Given the description of an element on the screen output the (x, y) to click on. 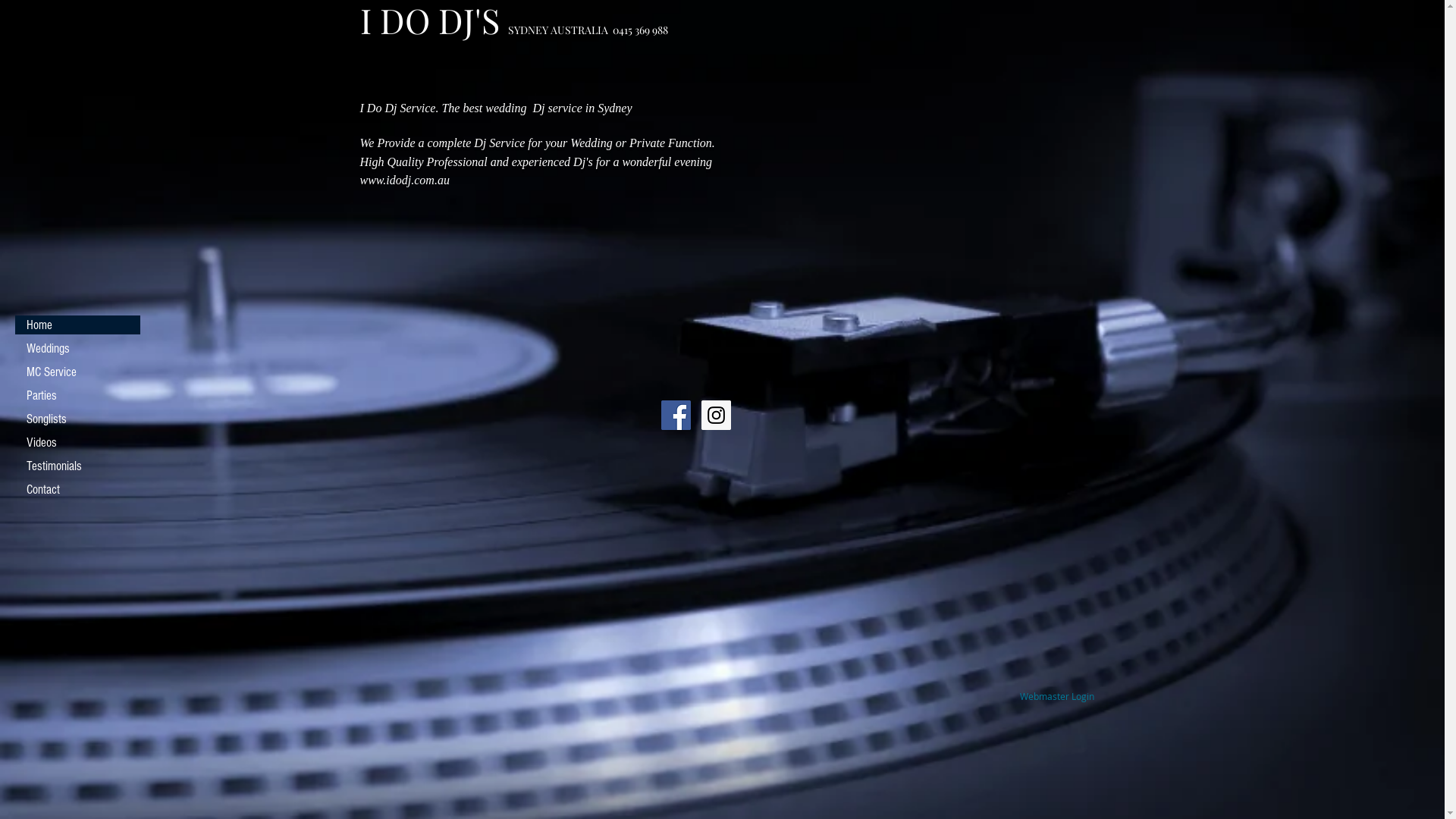
Videos Element type: text (77, 442)
Home Element type: text (77, 324)
Weddings Element type: text (77, 347)
Facebook Like Element type: hover (400, 439)
www.idodj.com.au Element type: text (403, 179)
Contact Element type: text (77, 489)
Parties Element type: text (77, 394)
Testimonials Element type: text (77, 465)
Webmaster Login Element type: text (1057, 696)
MC Service Element type: text (77, 371)
Songlists Element type: text (77, 418)
